Given the description of an element on the screen output the (x, y) to click on. 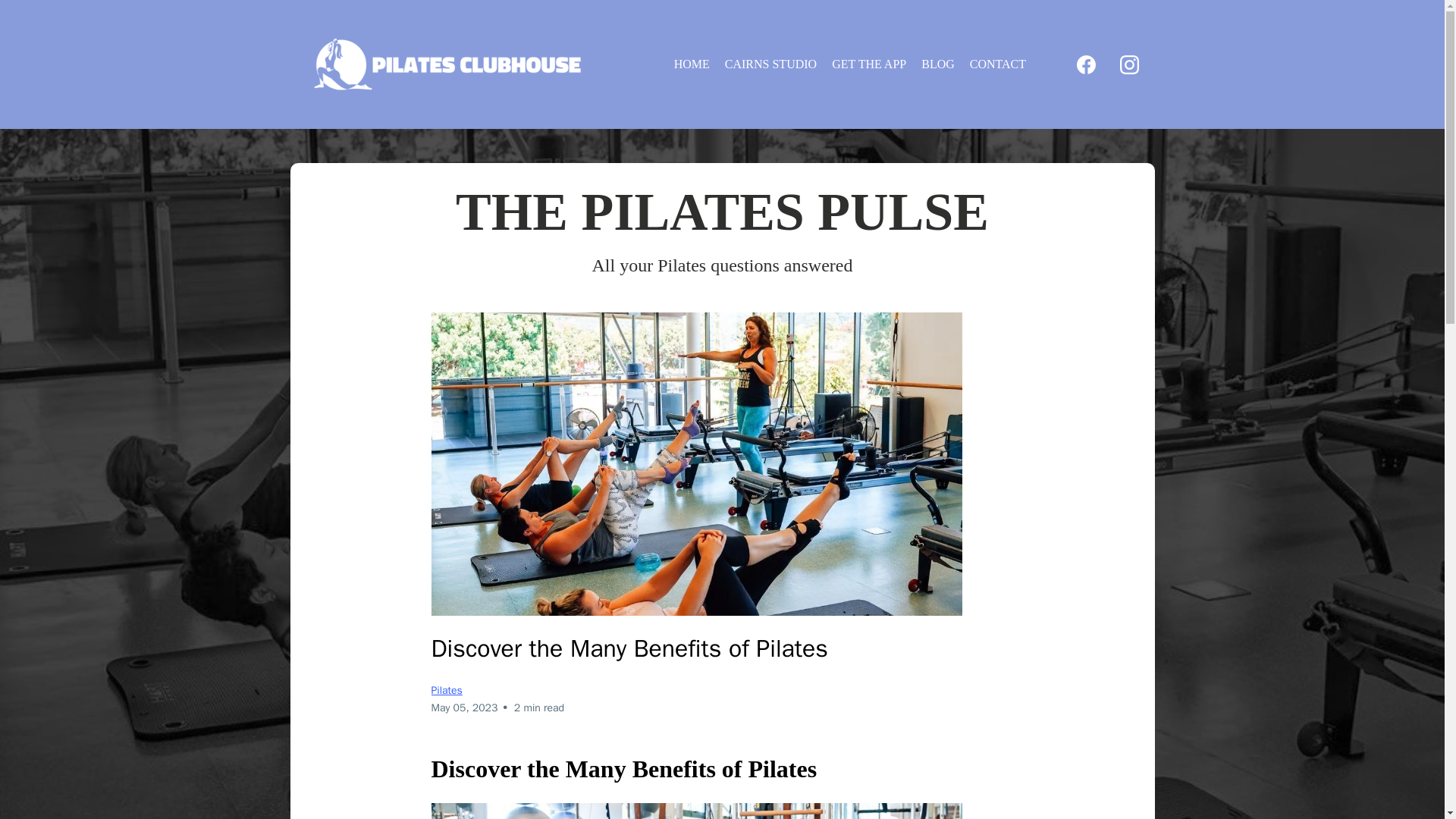
BLOG (938, 64)
GET THE APP (869, 64)
Pilates (445, 689)
HOME (691, 64)
CAIRNS STUDIO (770, 64)
CONTACT (997, 64)
Women doing Pilates (695, 811)
